Given the description of an element on the screen output the (x, y) to click on. 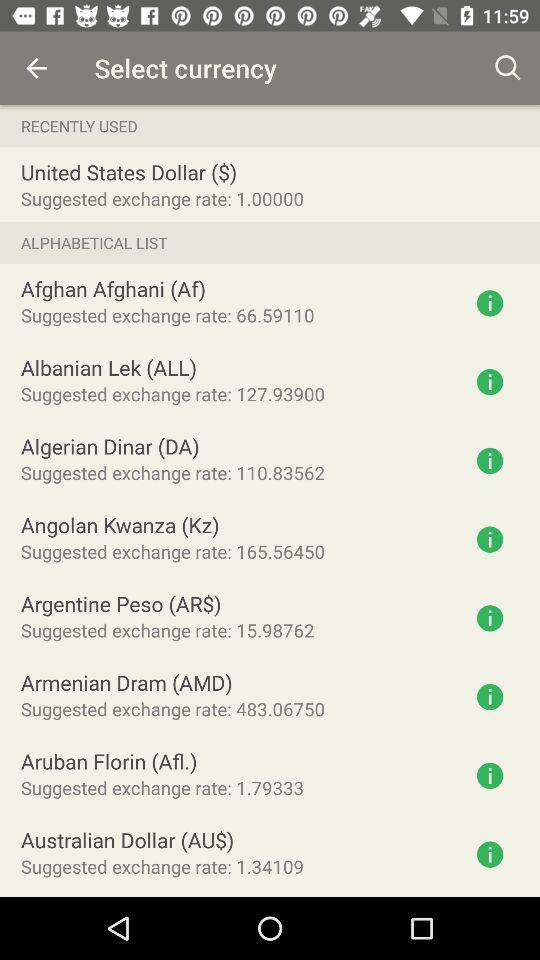
information toggle (490, 697)
